Given the description of an element on the screen output the (x, y) to click on. 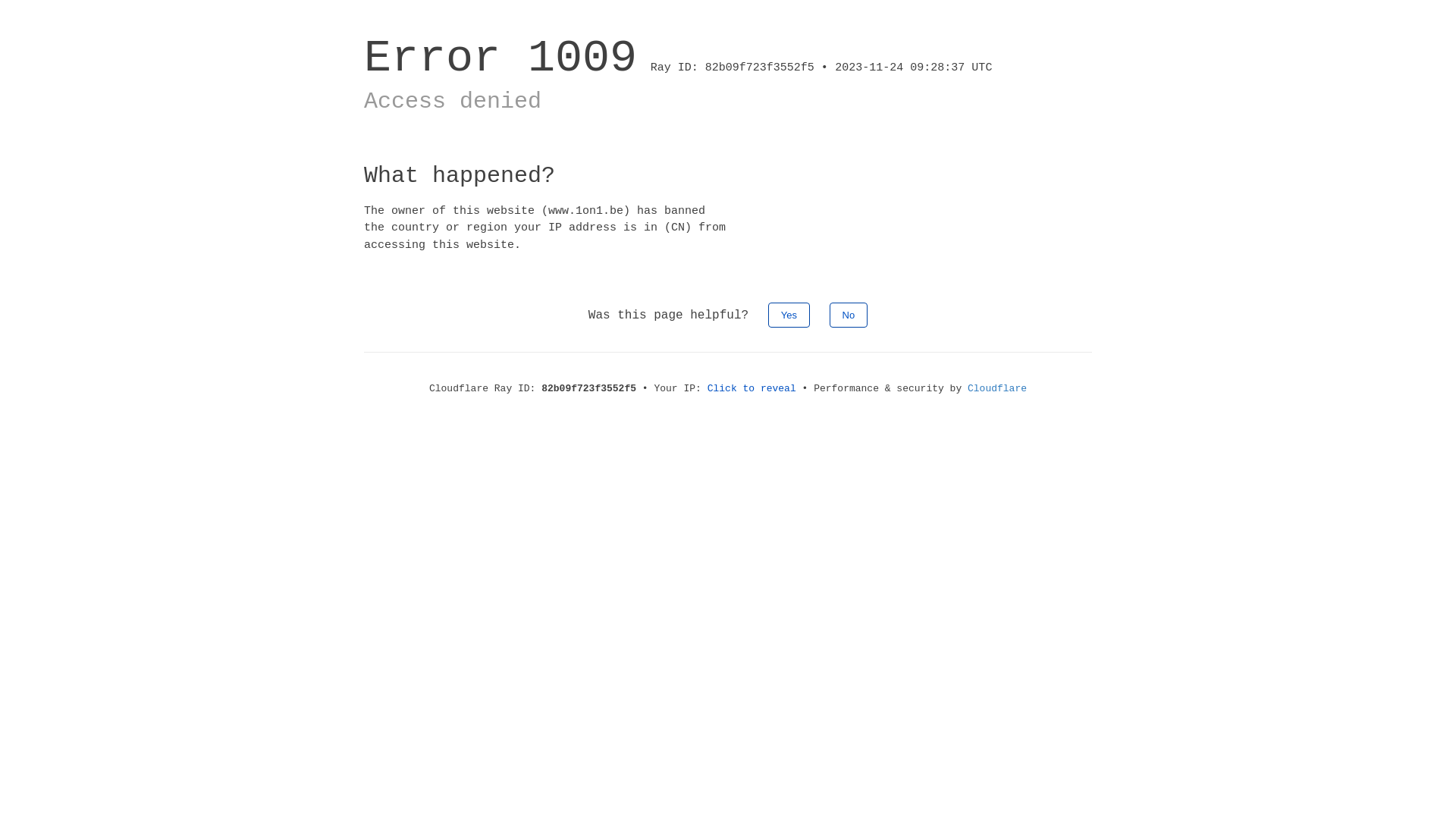
Yes Element type: text (788, 314)
Click to reveal Element type: text (751, 388)
No Element type: text (848, 314)
Cloudflare Element type: text (996, 388)
